Given the description of an element on the screen output the (x, y) to click on. 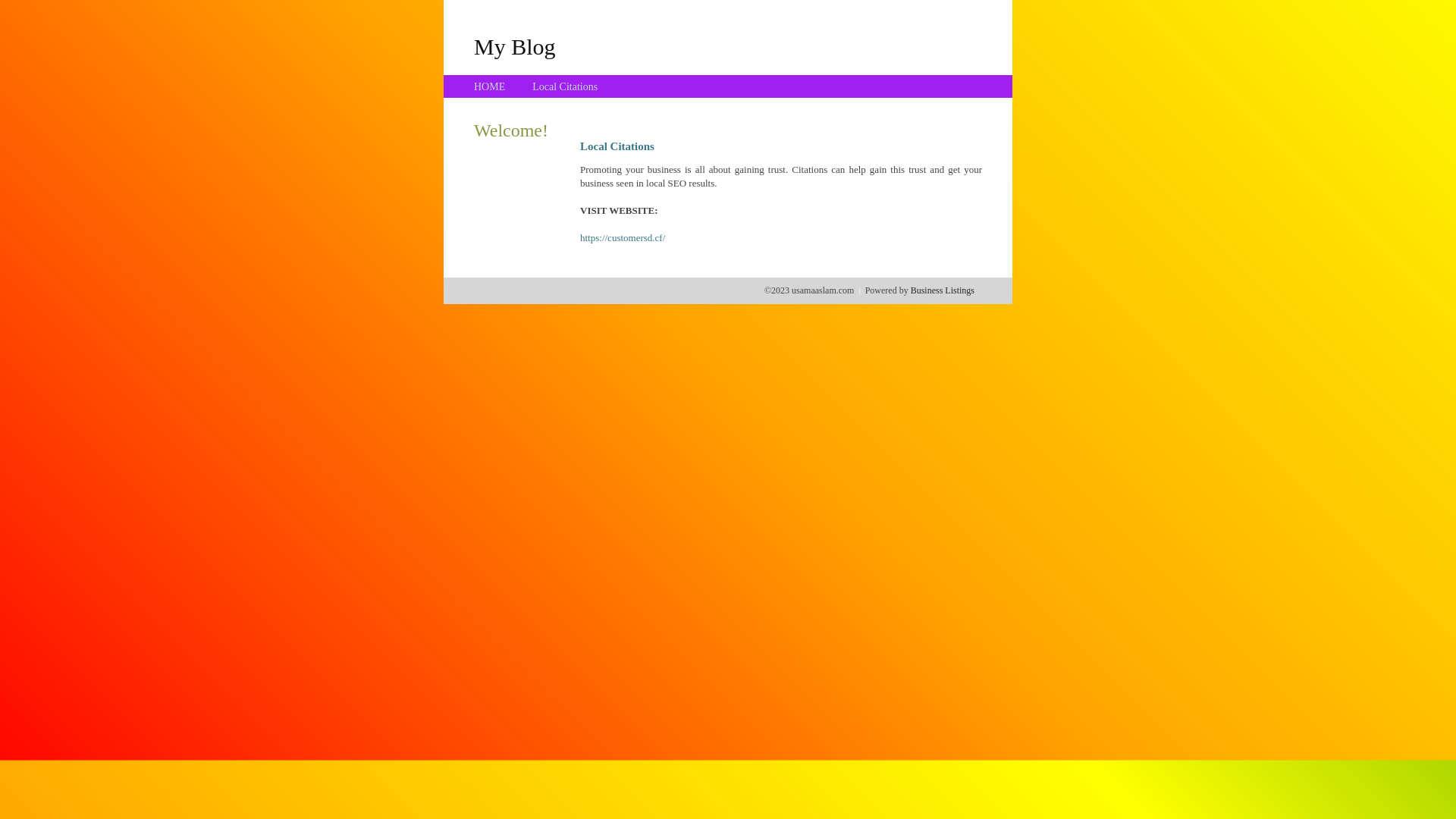
Business Listings Element type: text (942, 290)
HOME Element type: text (489, 86)
Local Citations Element type: text (564, 86)
https://customersd.cf/ Element type: text (622, 237)
My Blog Element type: text (514, 46)
